Given the description of an element on the screen output the (x, y) to click on. 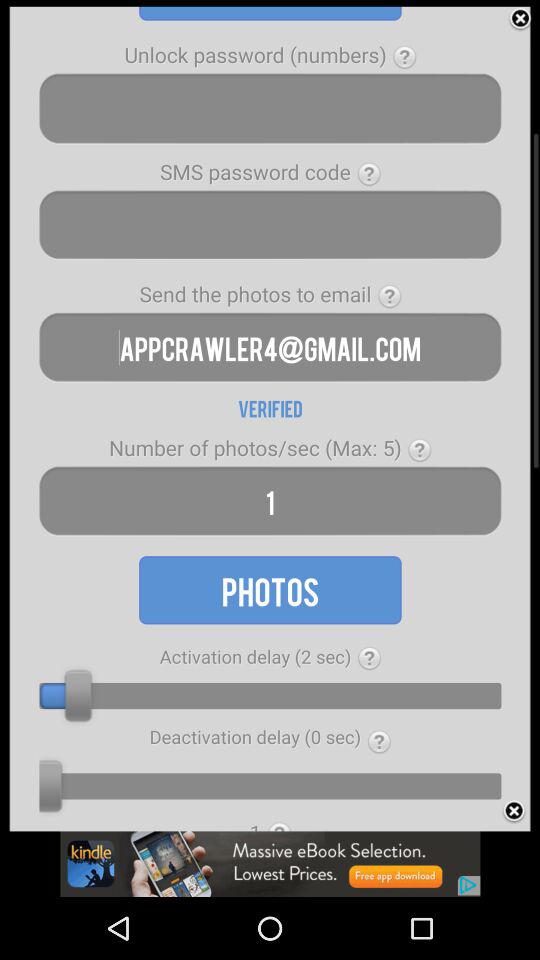
go to search box (270, 108)
